Given the description of an element on the screen output the (x, y) to click on. 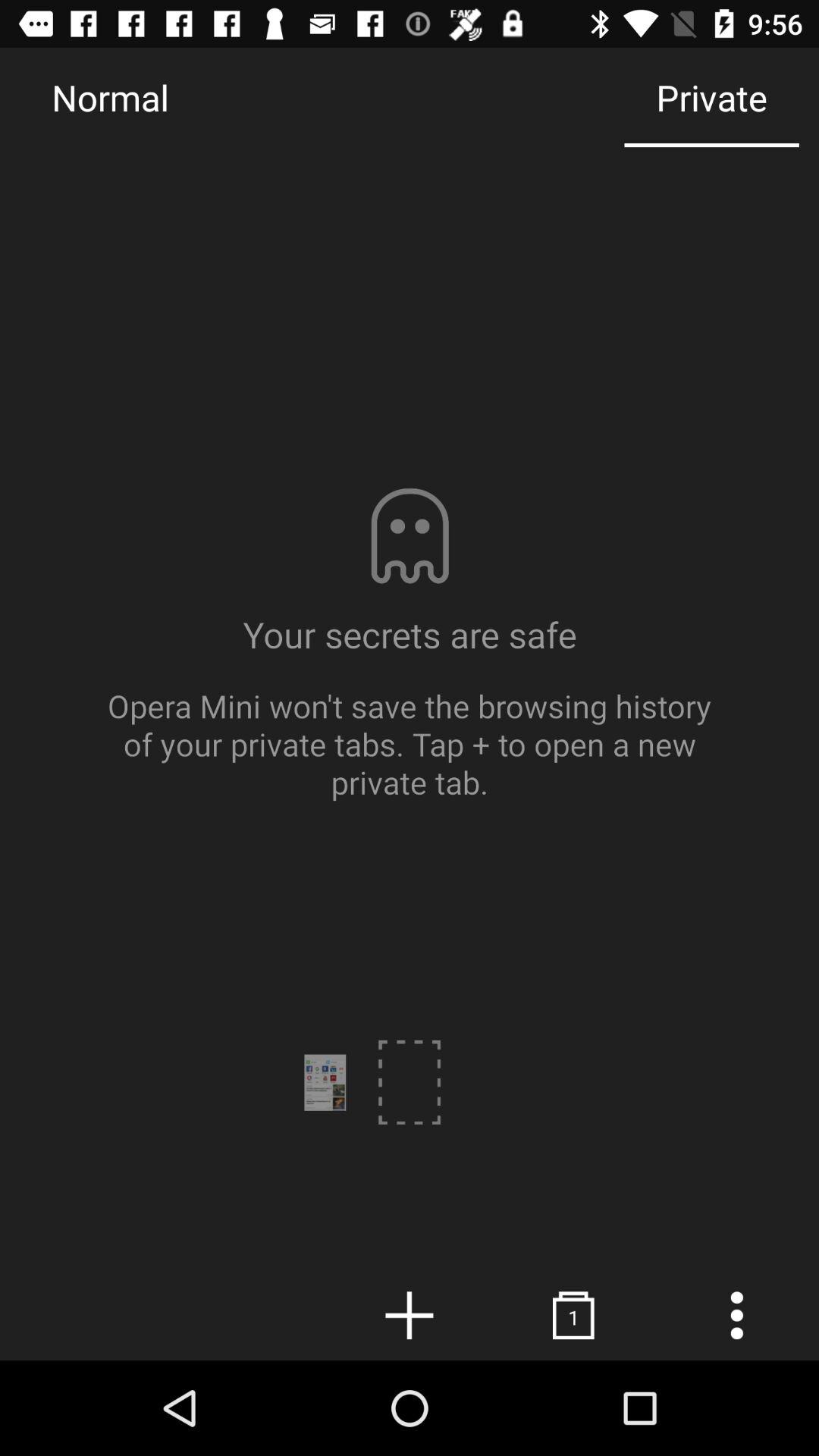
select item to the left of the private item (109, 97)
